Given the description of an element on the screen output the (x, y) to click on. 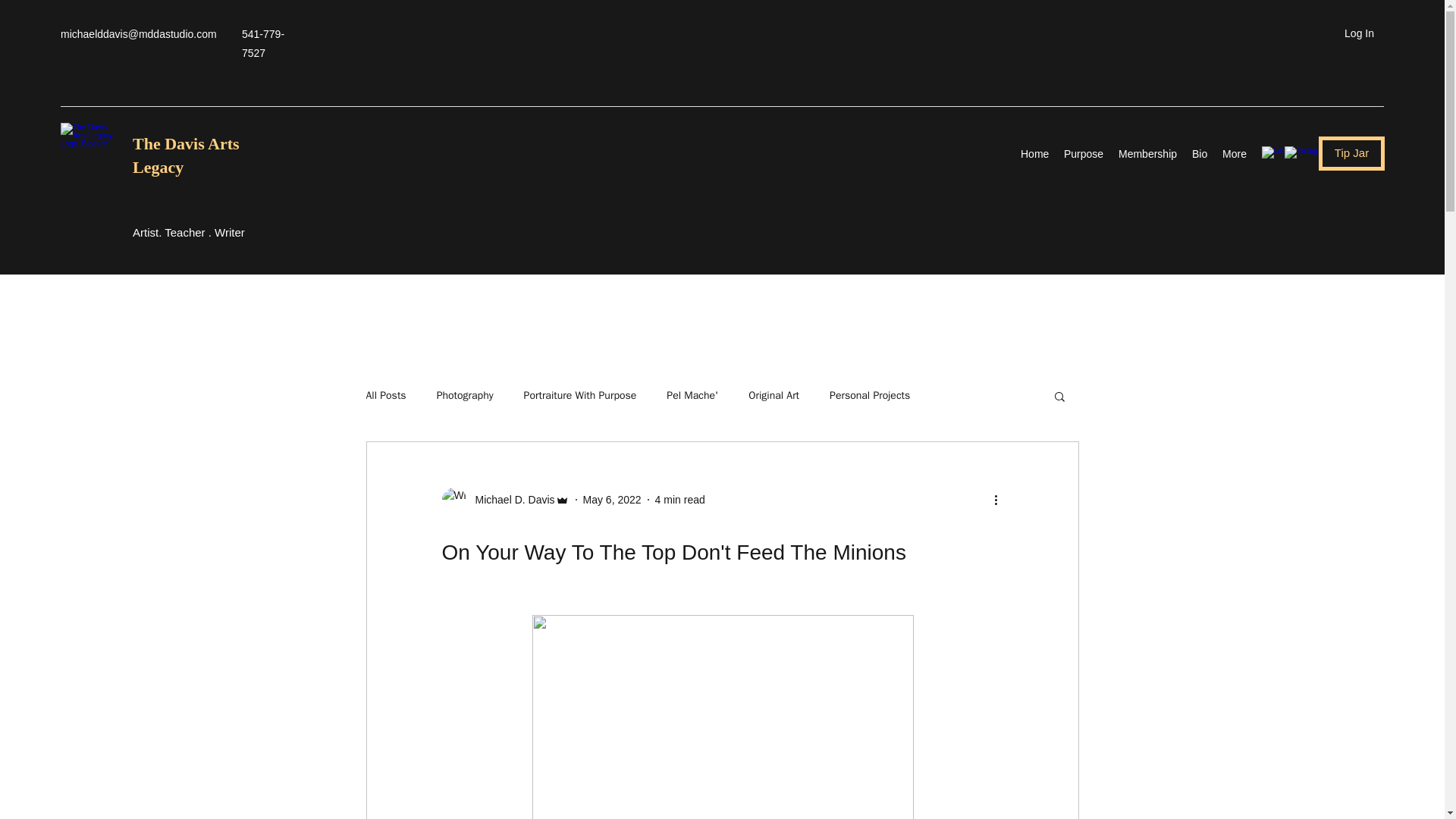
Membership (1147, 153)
May 6, 2022 (612, 499)
Home (1035, 153)
Log In (1358, 33)
Purpose (1083, 153)
Michael D. Davis (509, 498)
The Davis Arts Legacy (186, 155)
4 min read (679, 499)
Personal Projects (869, 395)
Tip Jar (1351, 153)
